Given the description of an element on the screen output the (x, y) to click on. 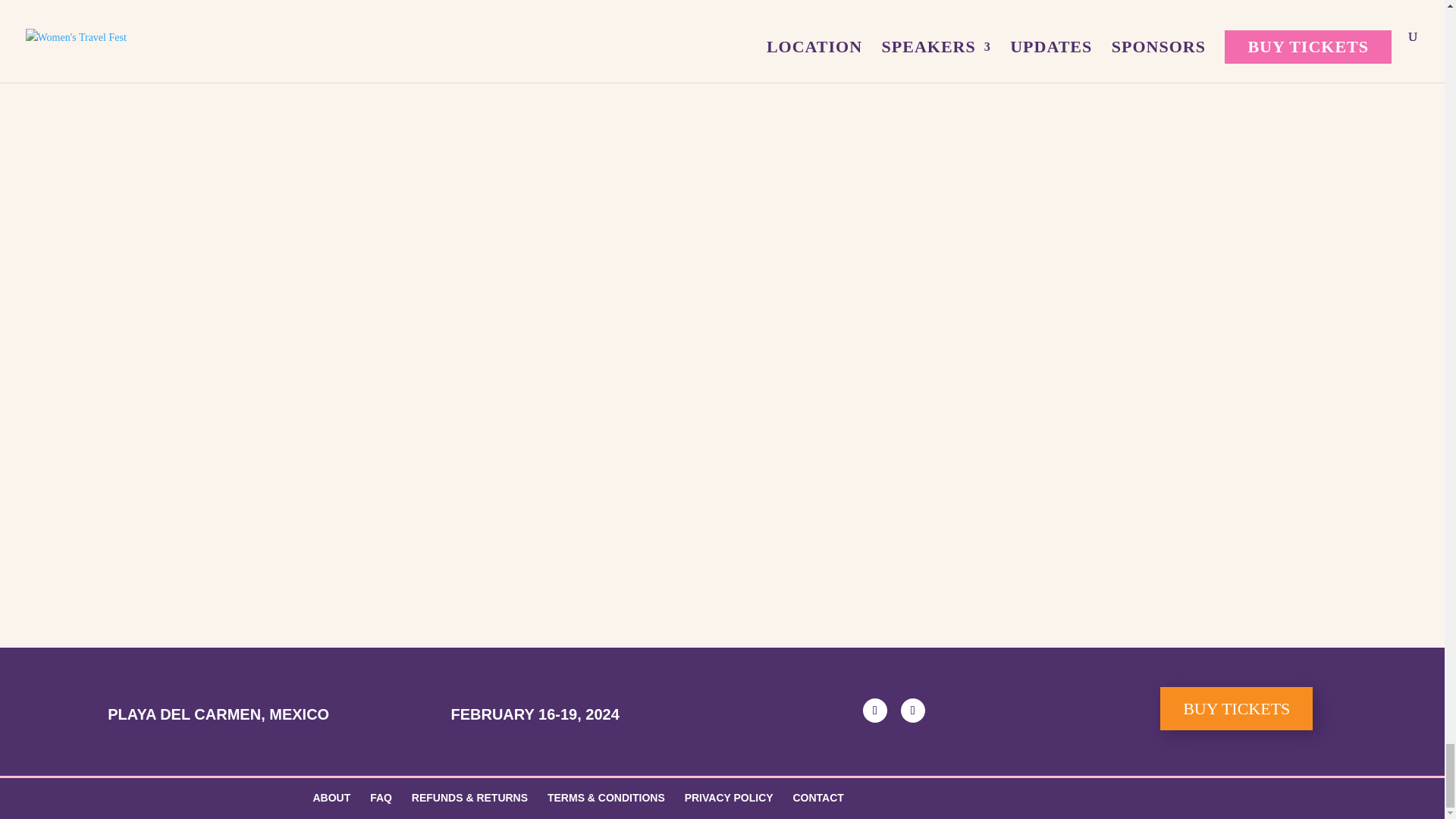
Follow on Instagram (912, 710)
Follow on Facebook (874, 710)
FAQ (380, 797)
ABOUT (331, 797)
PRIVACY POLICY (728, 797)
BUY TICKETS (1236, 708)
